Given the description of an element on the screen output the (x, y) to click on. 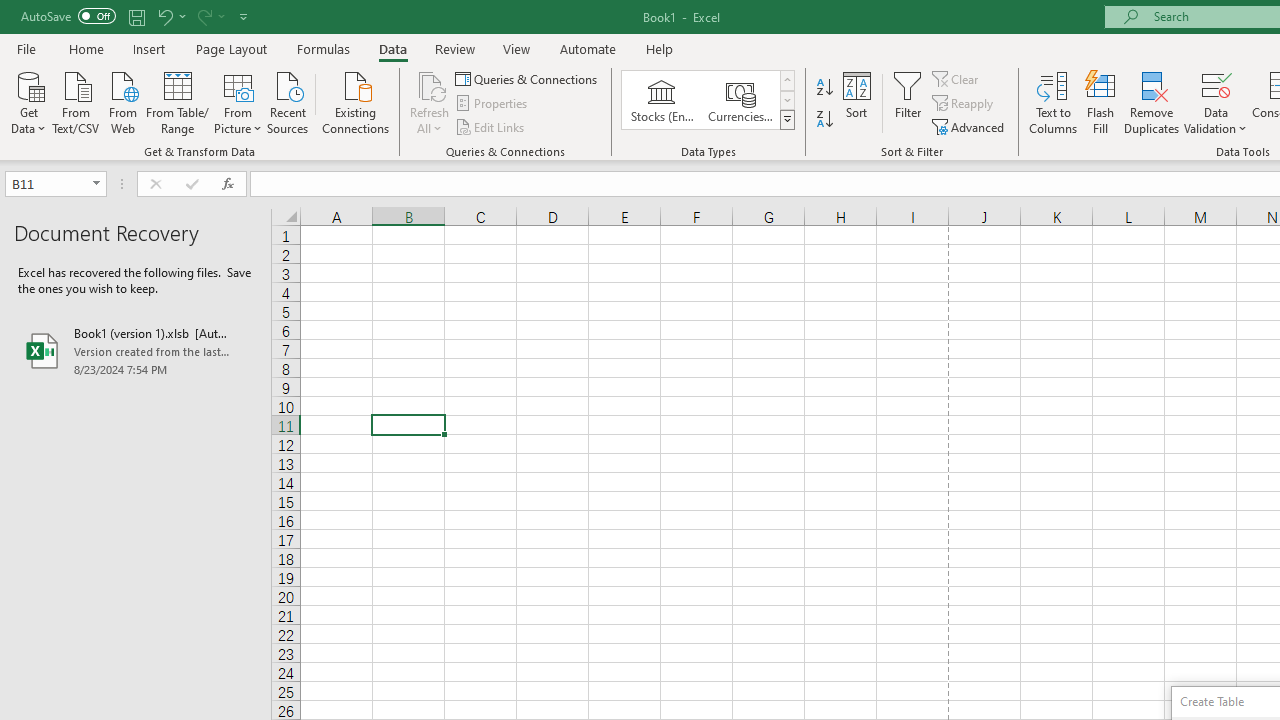
Existing Connections (355, 101)
Open (96, 183)
Data Types (786, 120)
Review (454, 48)
Formulas (323, 48)
Data Validation... (1215, 84)
Properties (492, 103)
Book1 (version 1).xlsb  [AutoRecovered] (136, 350)
Edit Links (491, 126)
Refresh All (429, 84)
Automate (588, 48)
Row Down (786, 100)
